Given the description of an element on the screen output the (x, y) to click on. 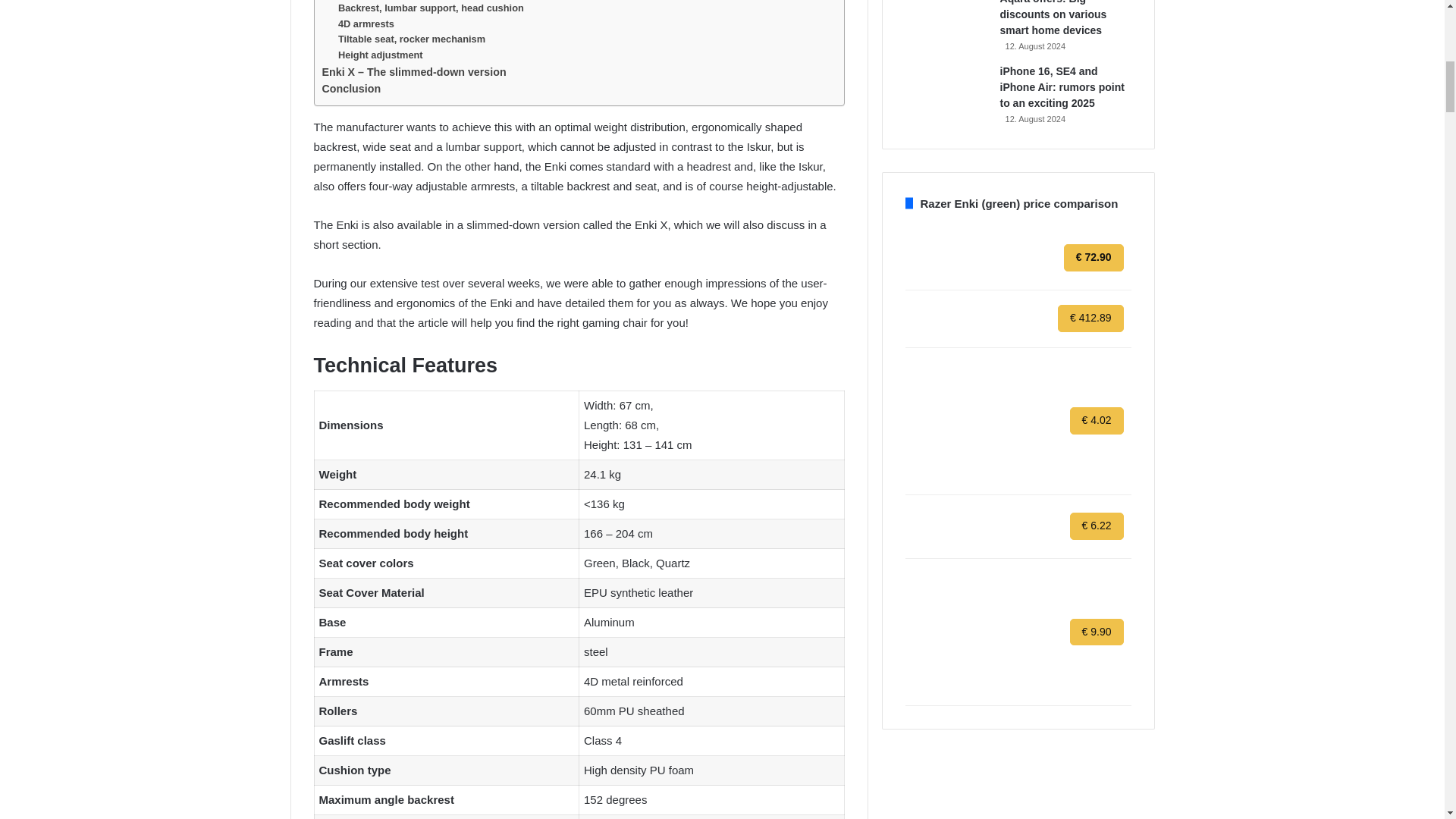
Height adjustment (380, 55)
Backrest, lumbar support, head cushion (430, 8)
Tiltable seat, rocker mechanism (410, 39)
4D armrests (365, 24)
